Given the description of an element on the screen output the (x, y) to click on. 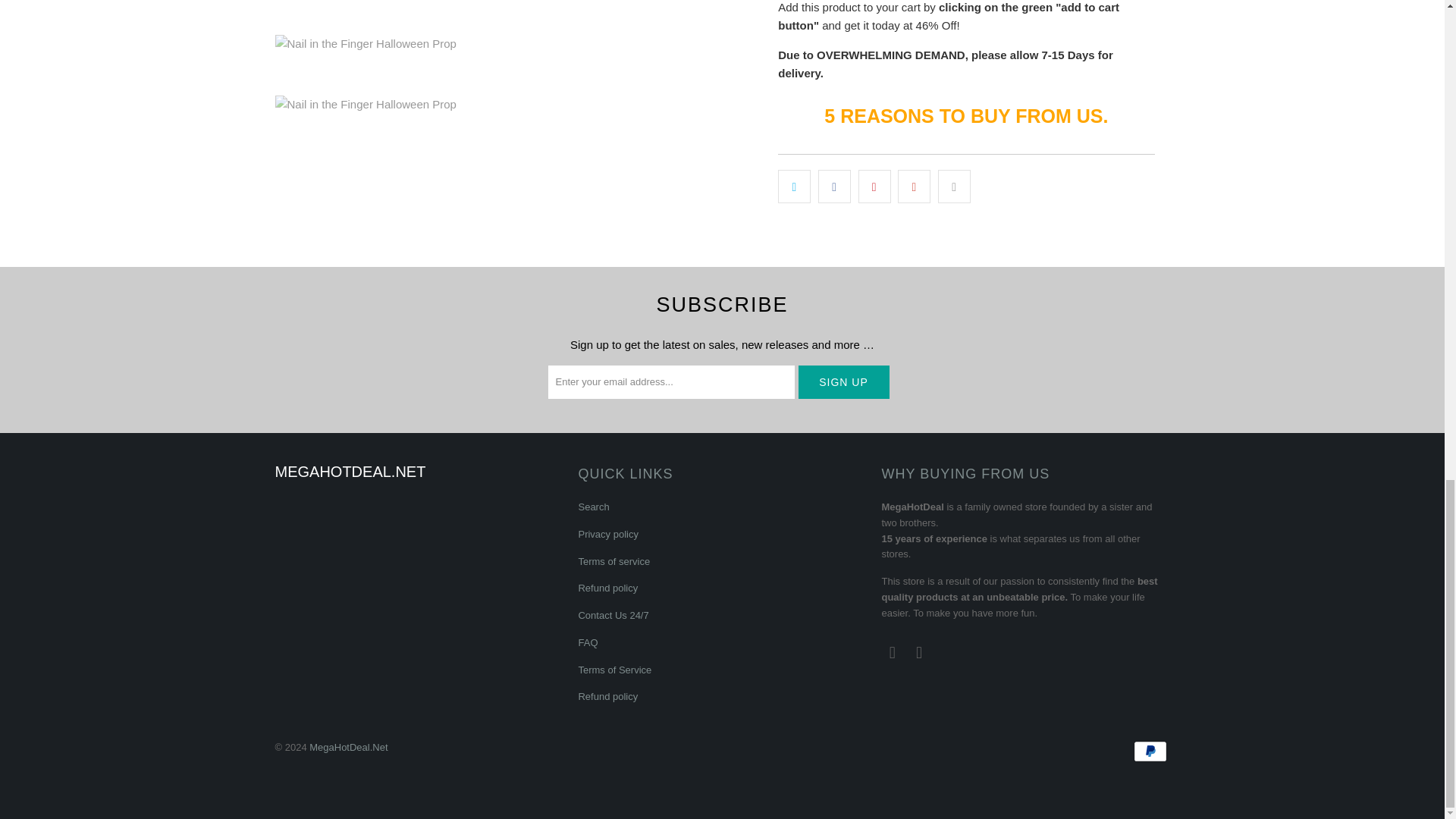
Share this on Facebook (834, 186)
PayPal (1150, 751)
Sign Up (842, 381)
MegaHotDeal.Net  on Instagram (919, 652)
Share this on Twitter (793, 186)
Share this on Pinterest (875, 186)
Email this to a friend (954, 186)
MegaHotDeal.Net  on YouTube (892, 652)
Sign Up (842, 381)
Search (593, 506)
